Given the description of an element on the screen output the (x, y) to click on. 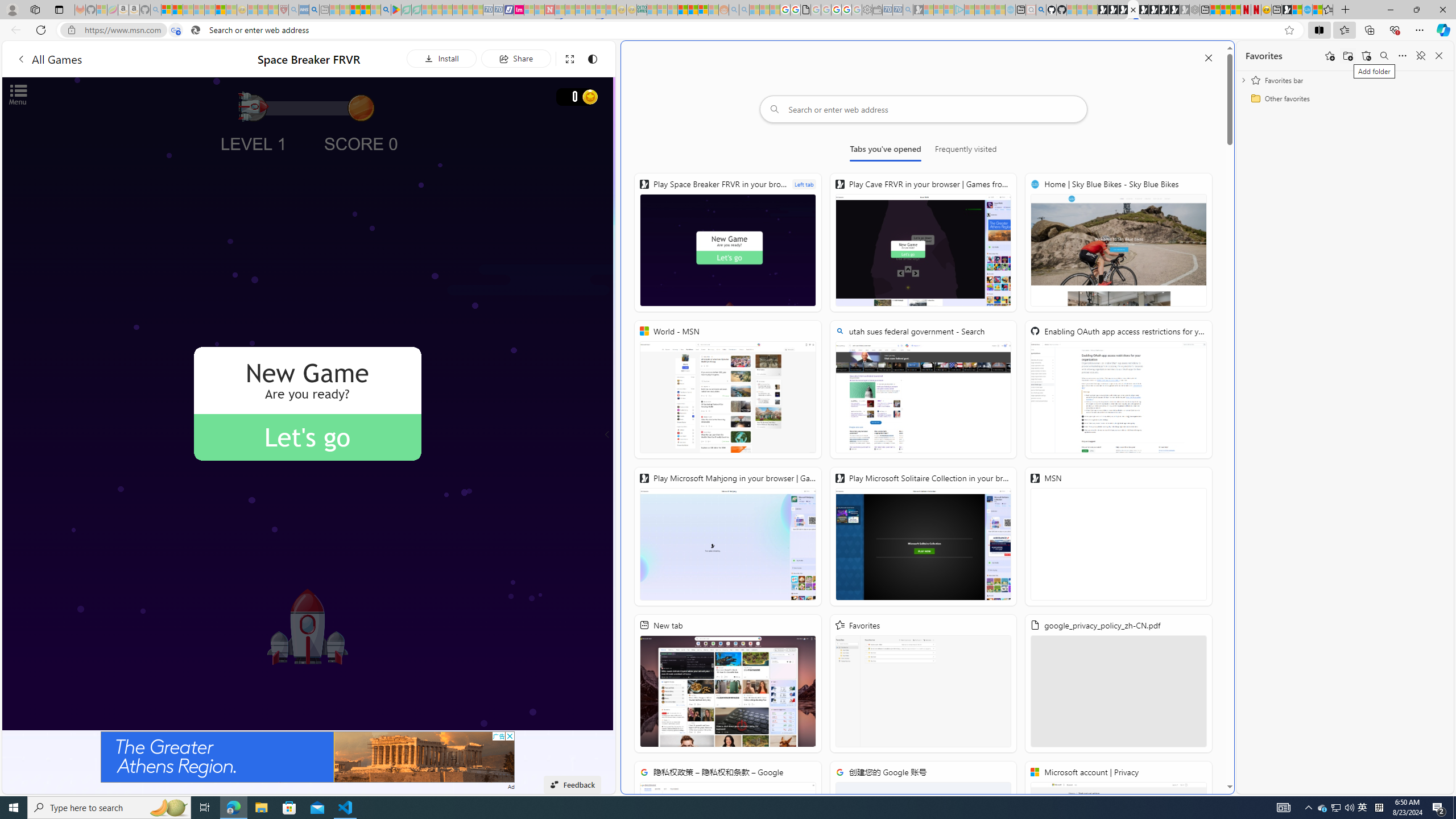
Add folder (1347, 55)
Share (515, 58)
